Given the description of an element on the screen output the (x, y) to click on. 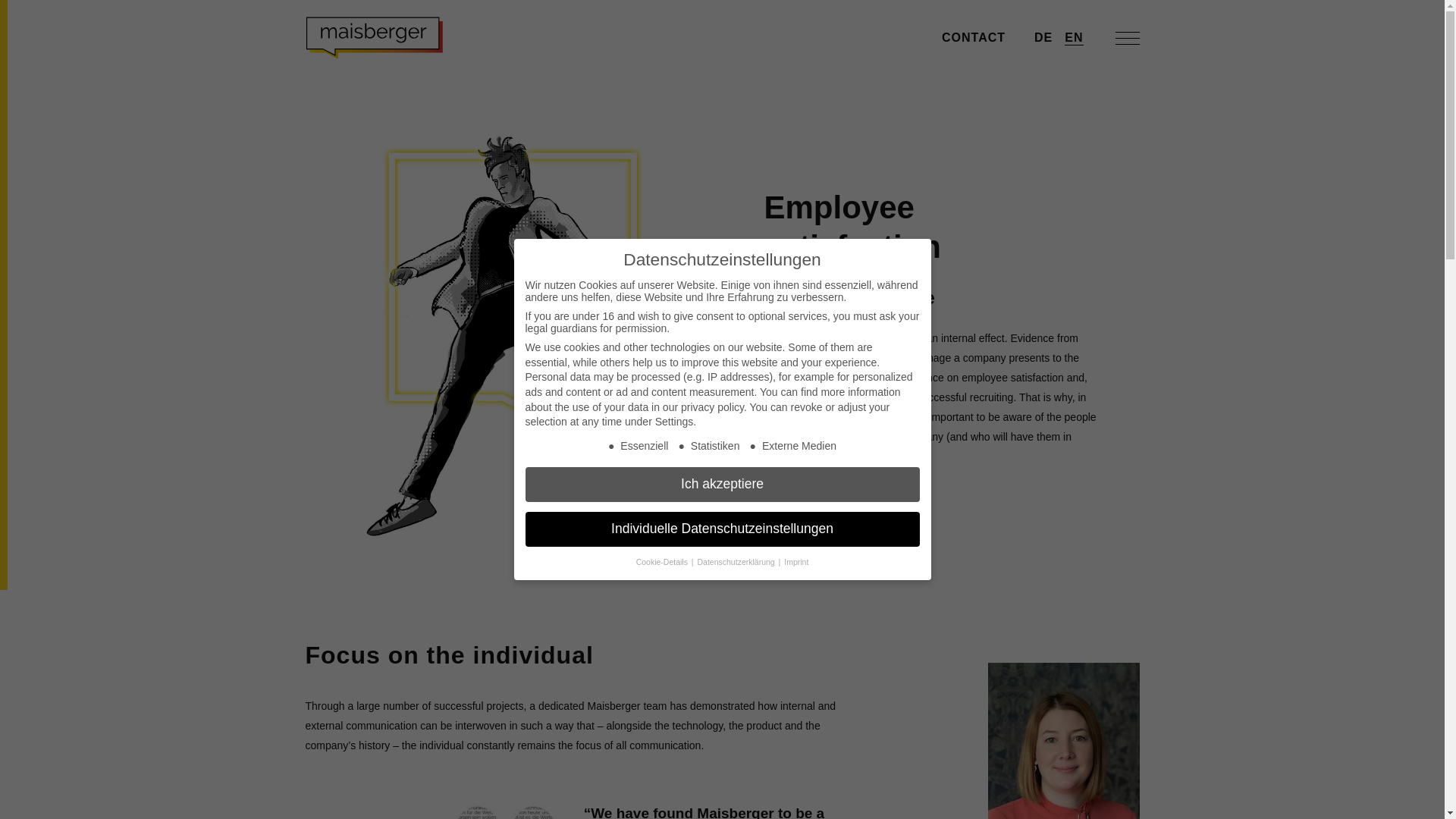
CONTACT (973, 38)
